Given the description of an element on the screen output the (x, y) to click on. 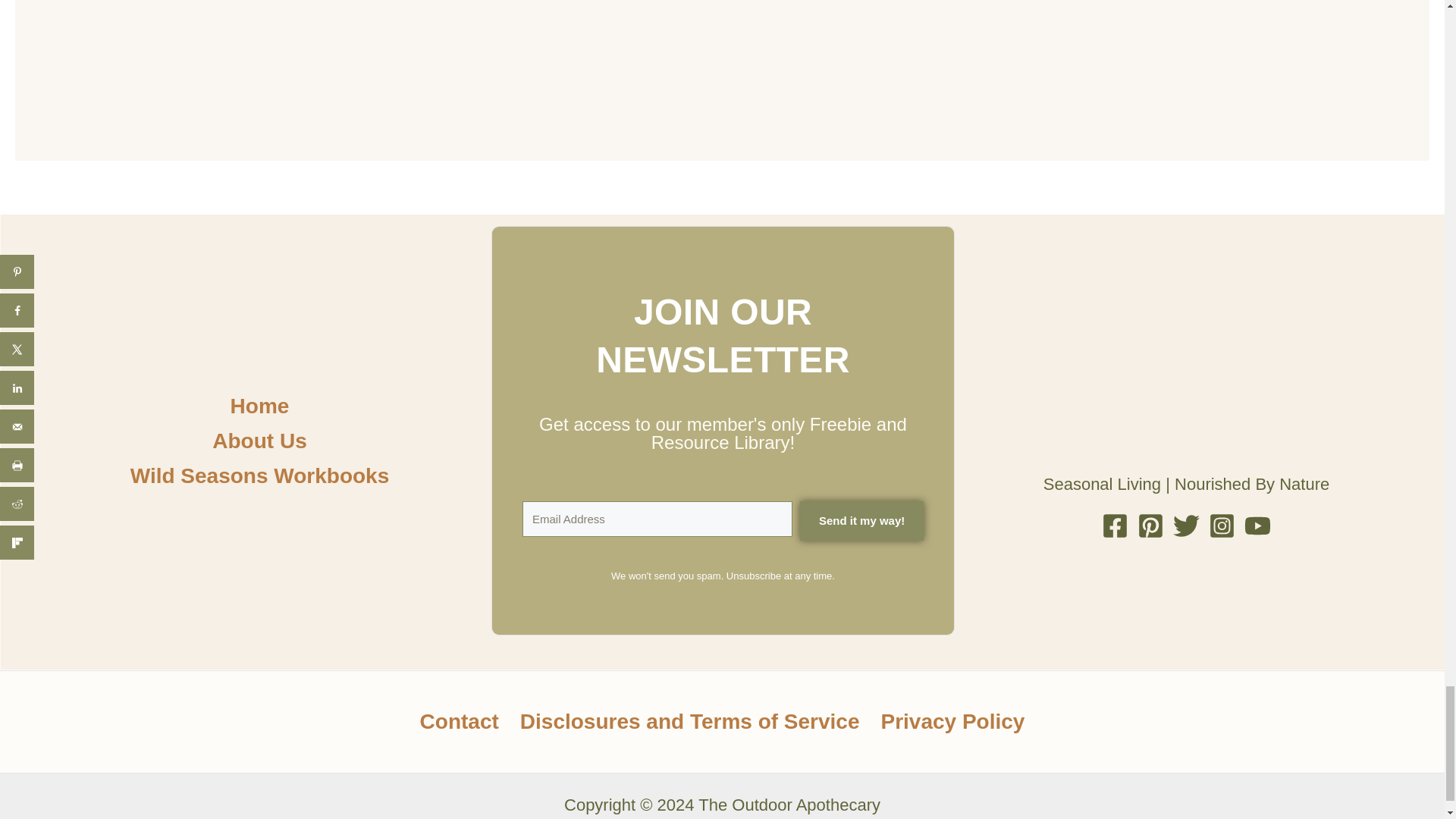
The Outdoor Apothecary (580, 63)
The Outdoor Apothecary (294, 76)
The Outdoor Apothecary (863, 76)
